Given the description of an element on the screen output the (x, y) to click on. 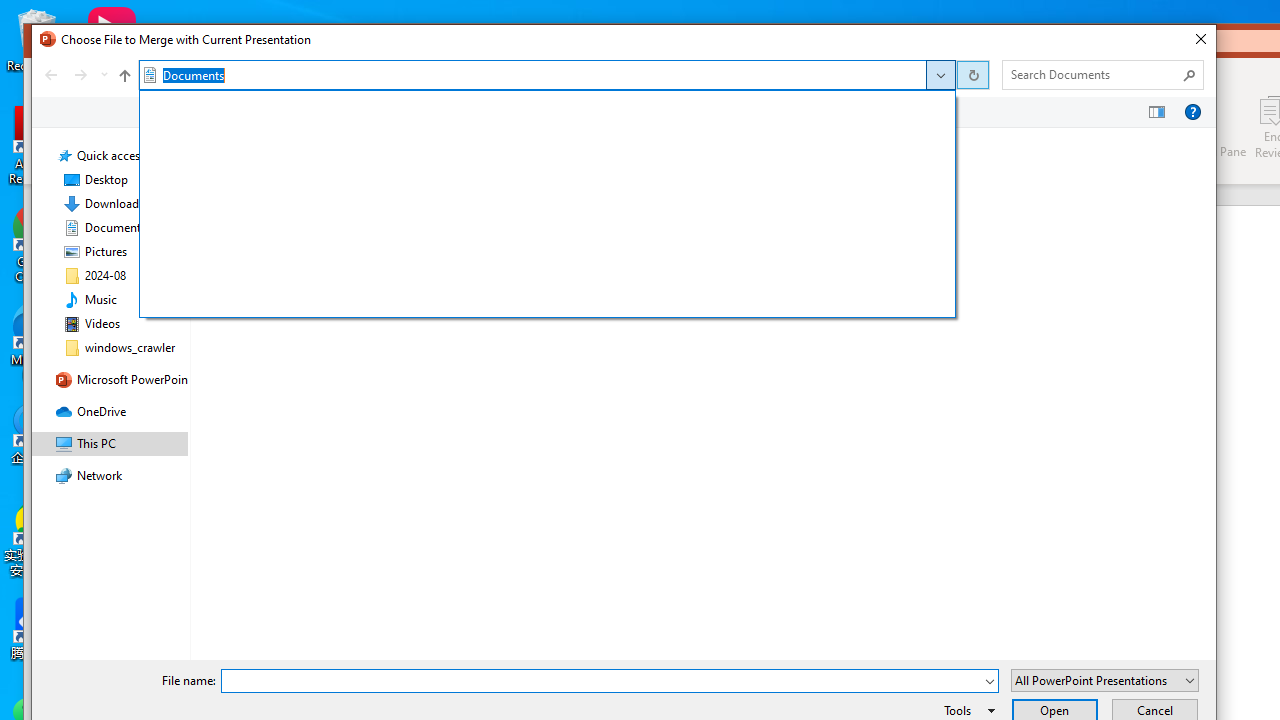
Preview pane (1157, 112)
Custom Office Templates (504, 169)
Type (668, 211)
Command Module (624, 112)
Sunlogin Files (504, 191)
Search Box (1092, 74)
